Given the description of an element on the screen output the (x, y) to click on. 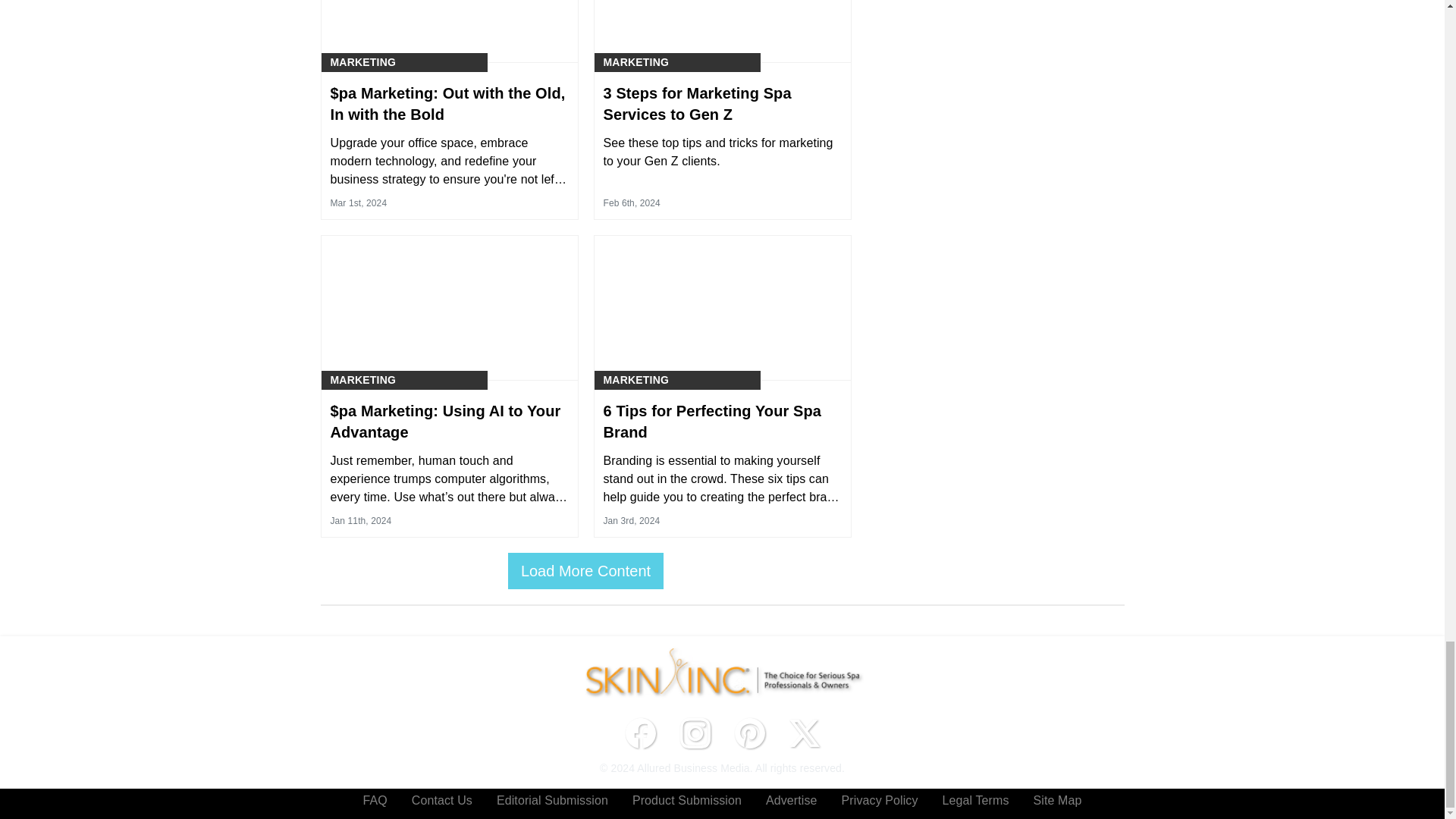
Facebook icon (639, 733)
Instagram icon (694, 733)
Twitter X icon (803, 733)
Pinterest icon (748, 733)
